Given the description of an element on the screen output the (x, y) to click on. 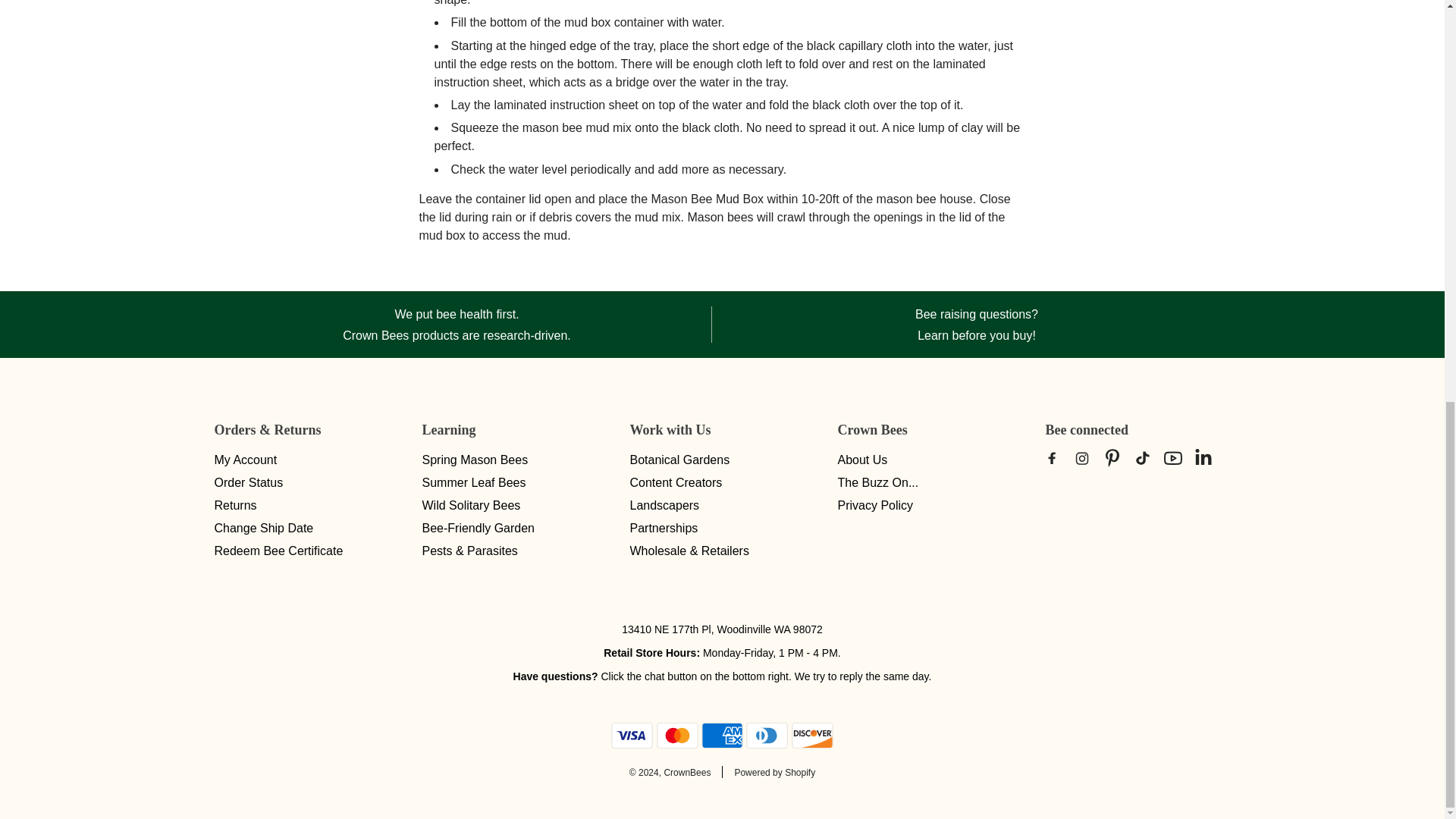
Visa (631, 735)
Diners Club (766, 735)
Mastercard (677, 735)
American Express (721, 735)
